Given the description of an element on the screen output the (x, y) to click on. 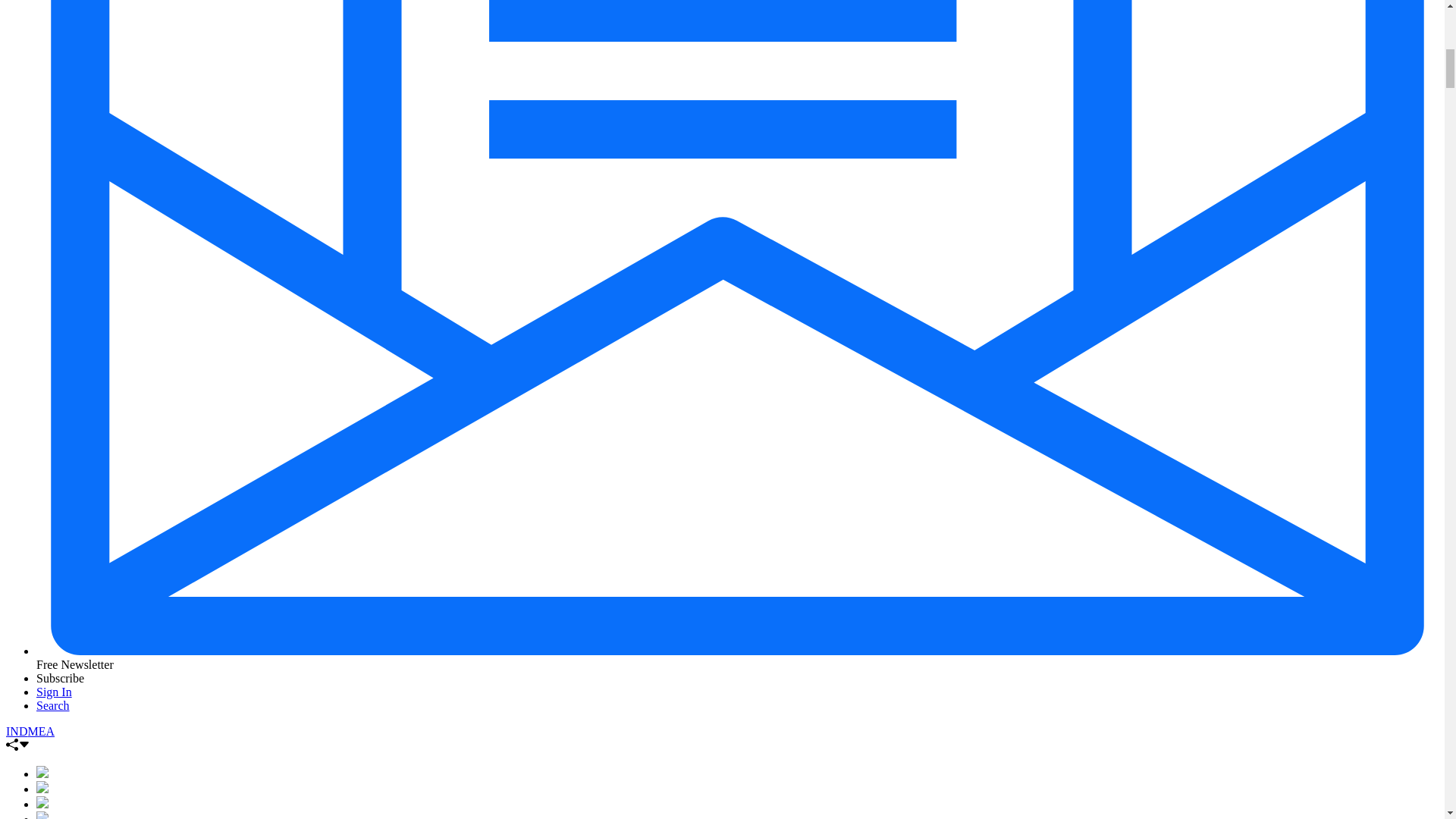
IND (16, 730)
Sign In (53, 691)
MEA (41, 730)
Search (52, 705)
Subscribe (60, 677)
